Given the description of an element on the screen output the (x, y) to click on. 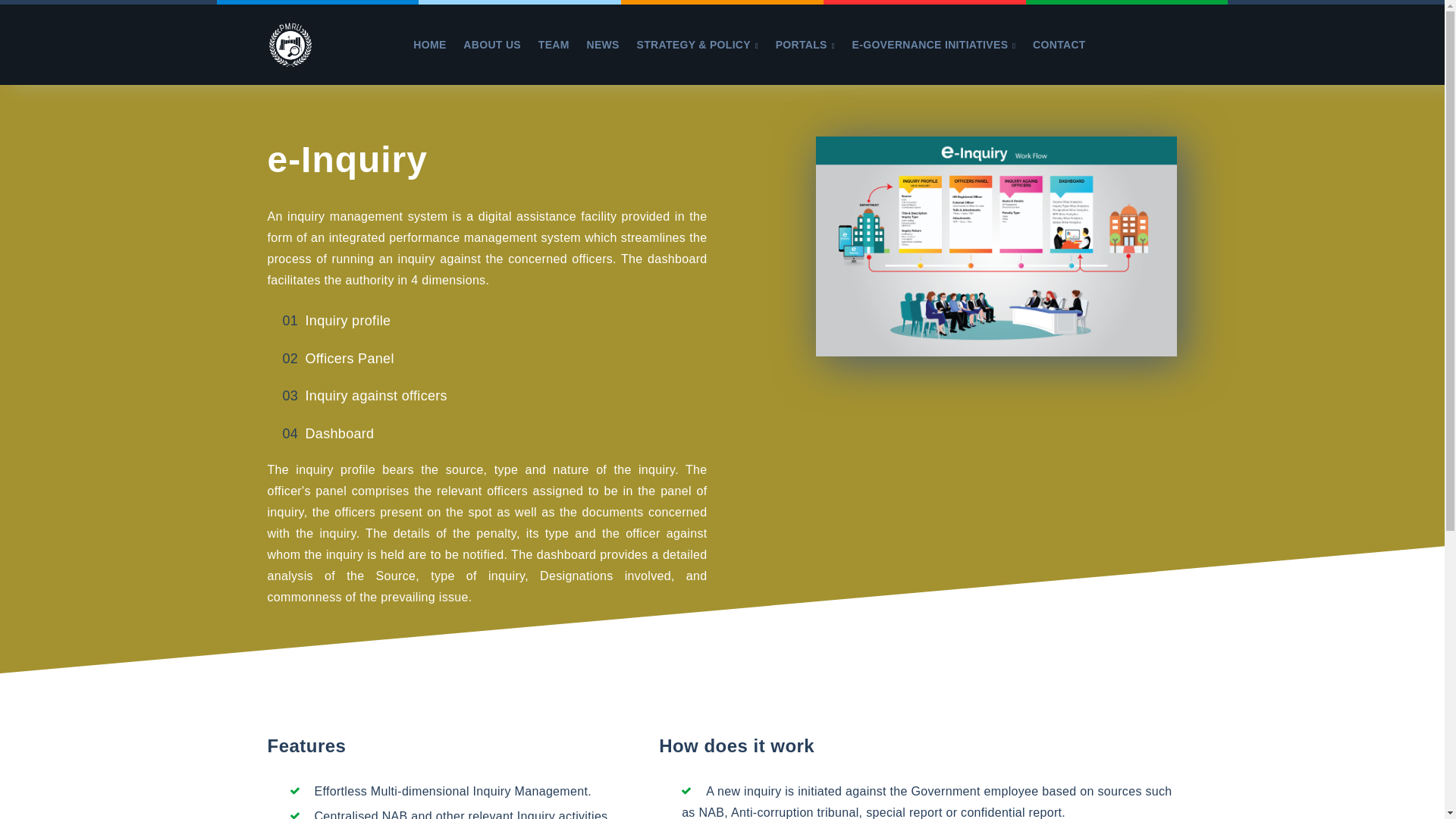
CONTACT (1059, 44)
ABOUT US (492, 44)
HOME (429, 44)
TEAM (553, 44)
NEWS (603, 44)
